Given the description of an element on the screen output the (x, y) to click on. 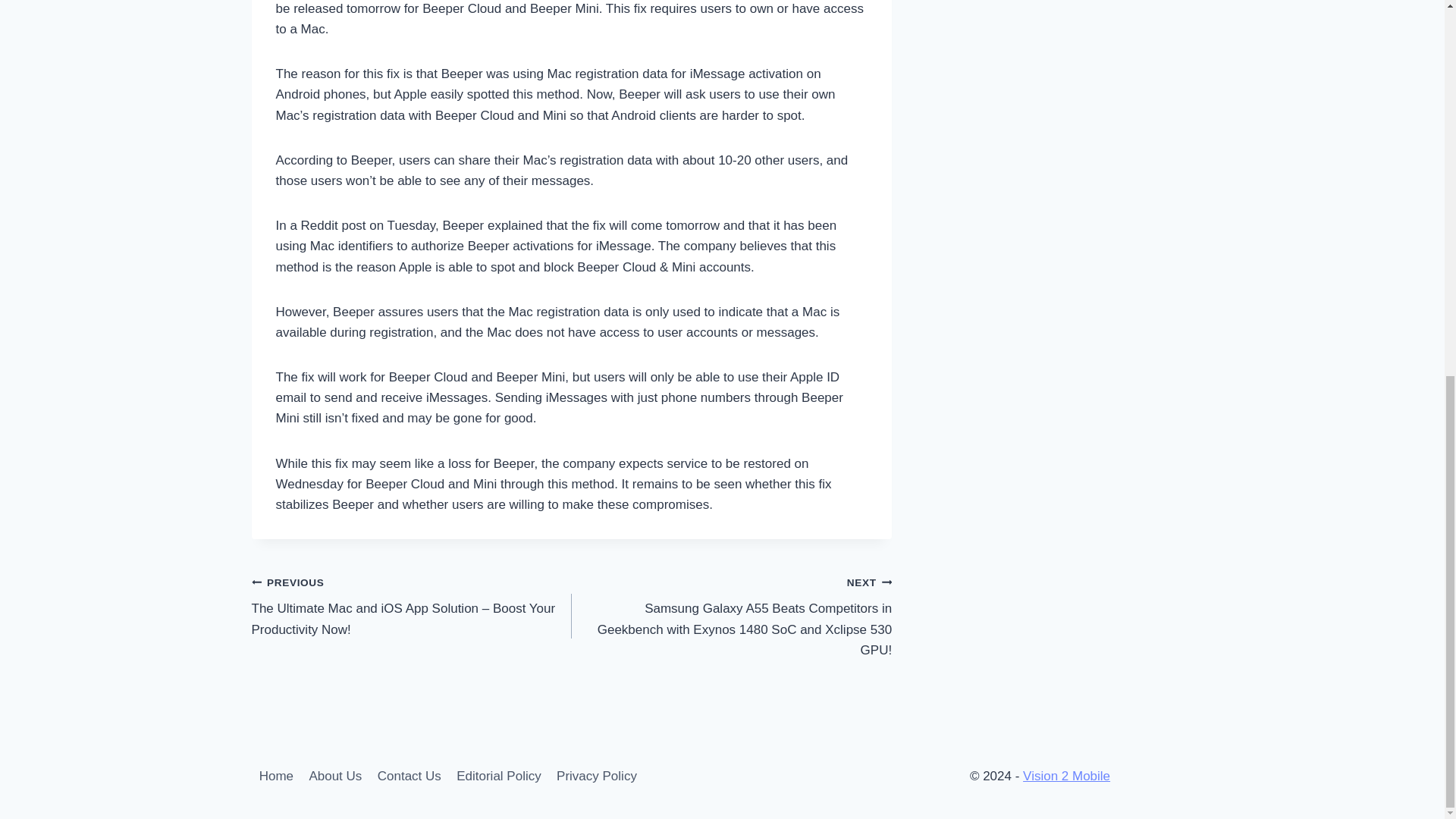
About Us (335, 776)
Home (276, 776)
Privacy Policy (596, 776)
Vision 2 Mobile (1066, 775)
Editorial Policy (498, 776)
Contact Us (408, 776)
